Given the description of an element on the screen output the (x, y) to click on. 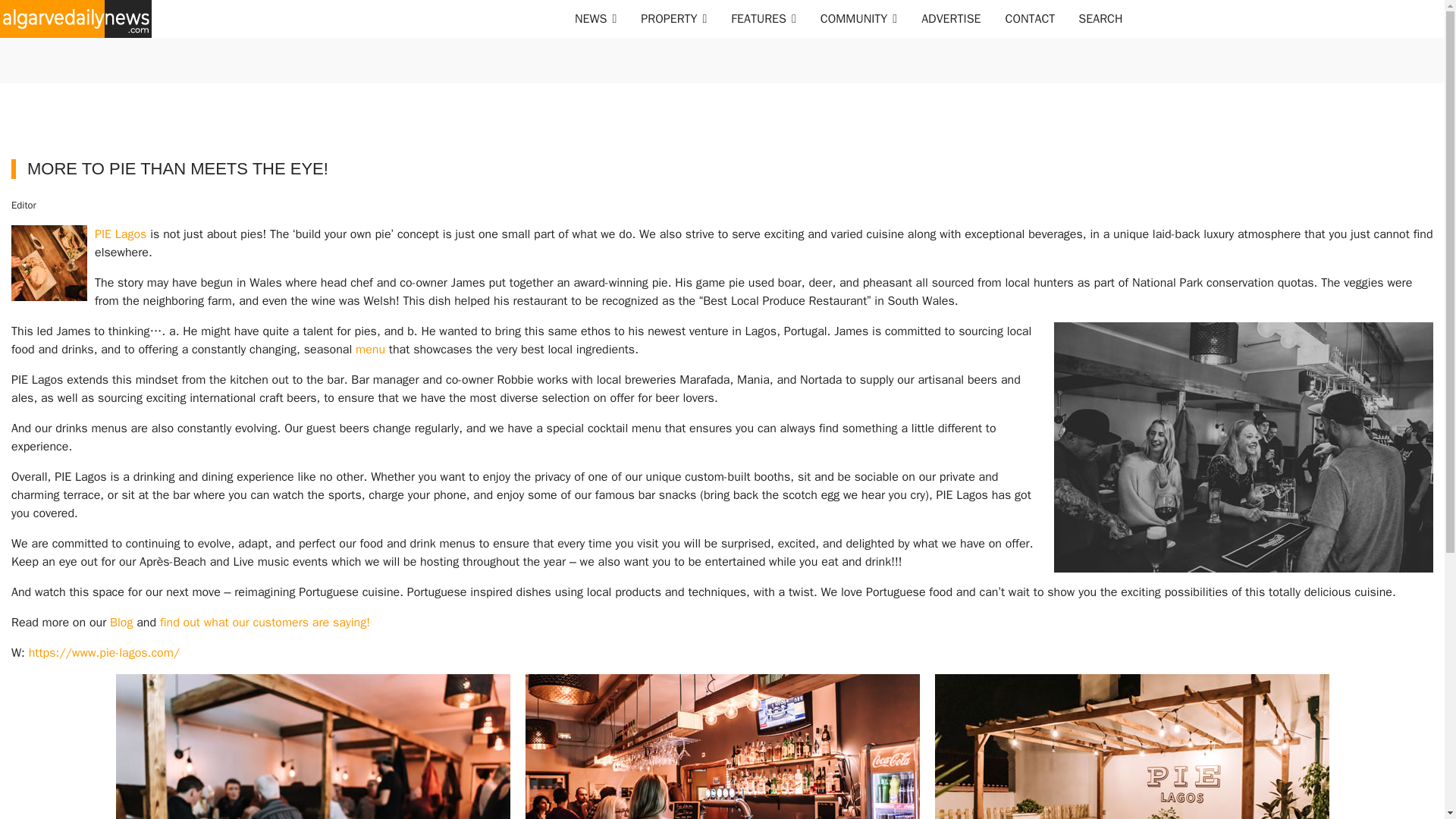
Blog Pie Lagos (121, 622)
FEATURES (763, 18)
Written by Editor (23, 205)
find out what our customers are saying! (264, 622)
Pie Lagos menu (370, 349)
NEWS (595, 18)
PIE Lagos, Algarve (104, 652)
PIE Lagos (120, 233)
PROPERTY (673, 18)
